Given the description of an element on the screen output the (x, y) to click on. 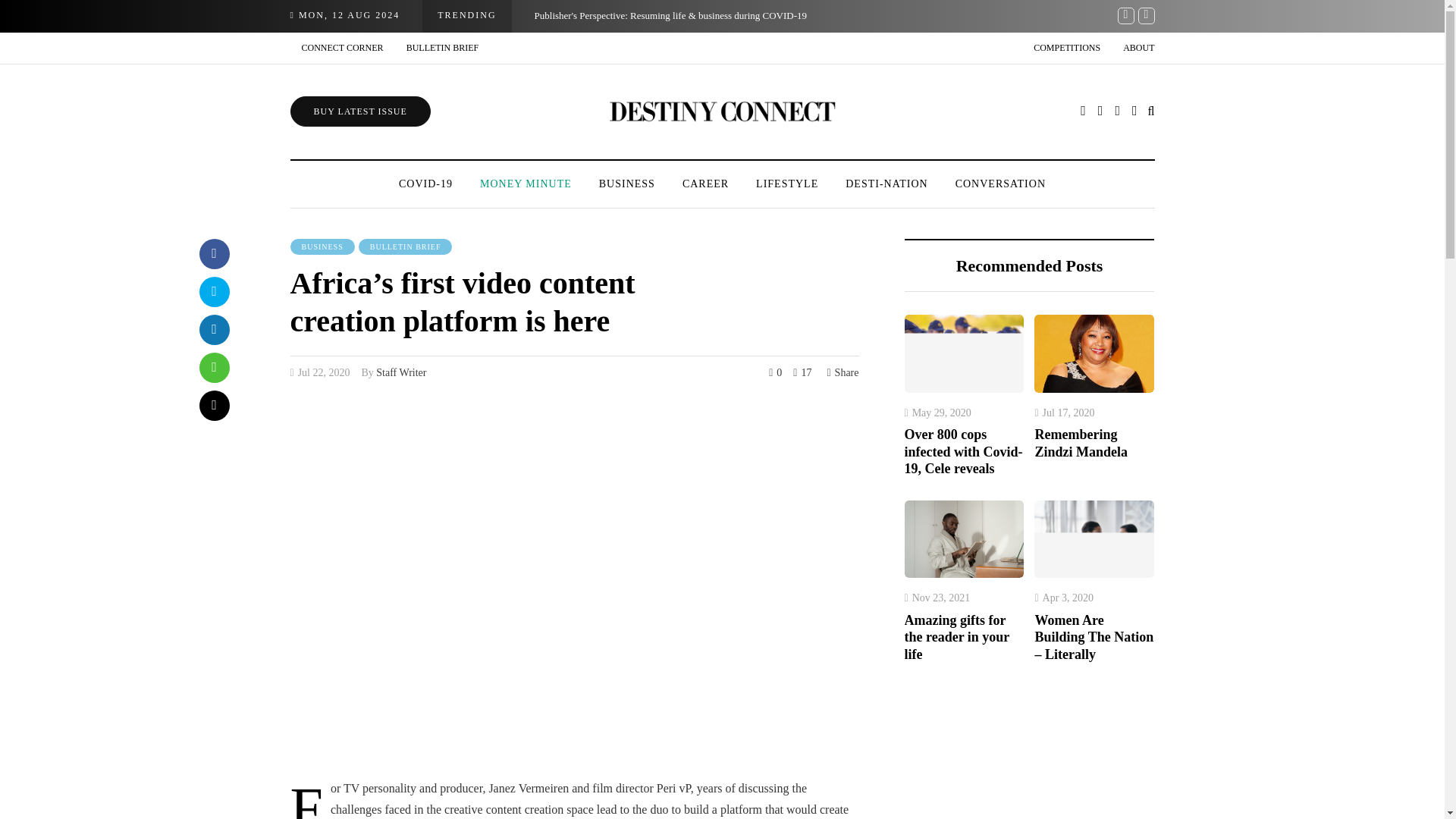
COMPETITIONS (1067, 47)
MONEY MINUTE (525, 184)
BUY LATEST ISSUE (359, 111)
Share by Email (213, 405)
ABOUT (1133, 47)
Share with LinkedIn (213, 329)
CONVERSATION (1000, 184)
COVID-19 (425, 184)
Tweet this (213, 291)
DESTI-NATION (885, 184)
